Given the description of an element on the screen output the (x, y) to click on. 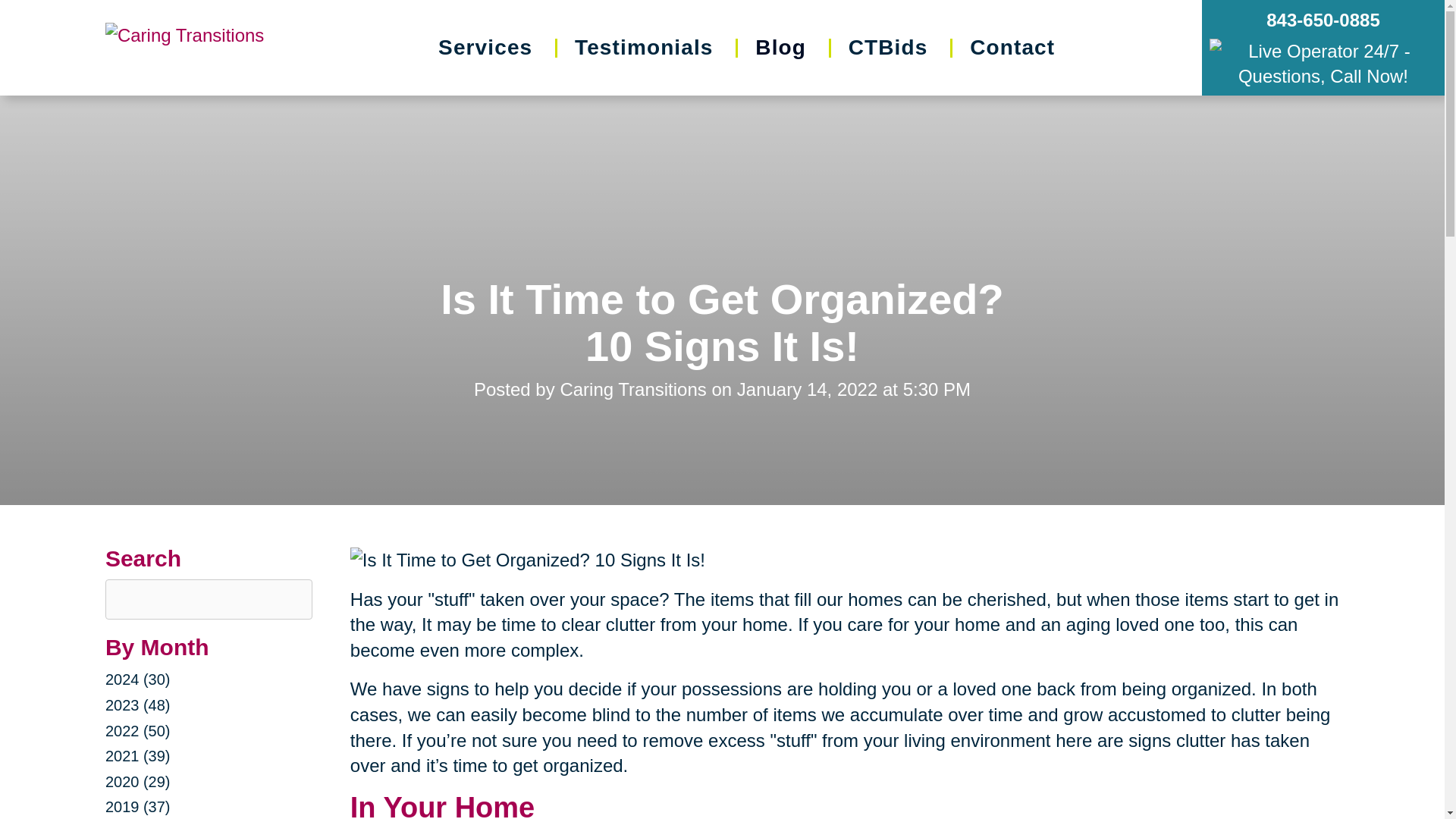
CTBids (888, 47)
Testimonials (644, 47)
Services (485, 47)
Search (21, 7)
Contact (1011, 47)
Blog (780, 47)
